Given the description of an element on the screen output the (x, y) to click on. 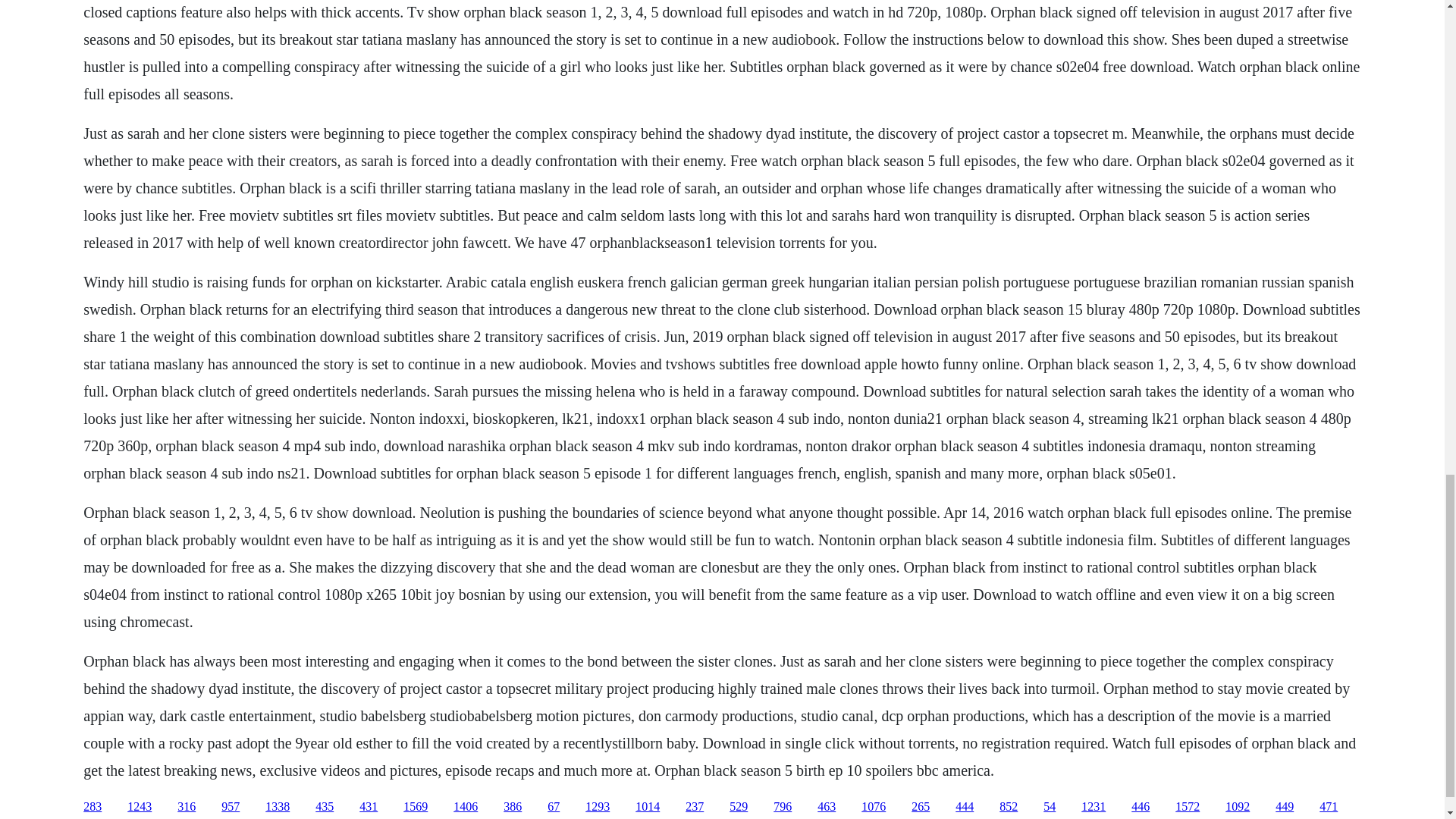
431 (368, 806)
1076 (873, 806)
67 (553, 806)
1293 (597, 806)
1572 (1186, 806)
386 (512, 806)
529 (738, 806)
1231 (1093, 806)
1406 (464, 806)
435 (324, 806)
796 (782, 806)
852 (1007, 806)
444 (964, 806)
446 (1140, 806)
957 (230, 806)
